Given the description of an element on the screen output the (x, y) to click on. 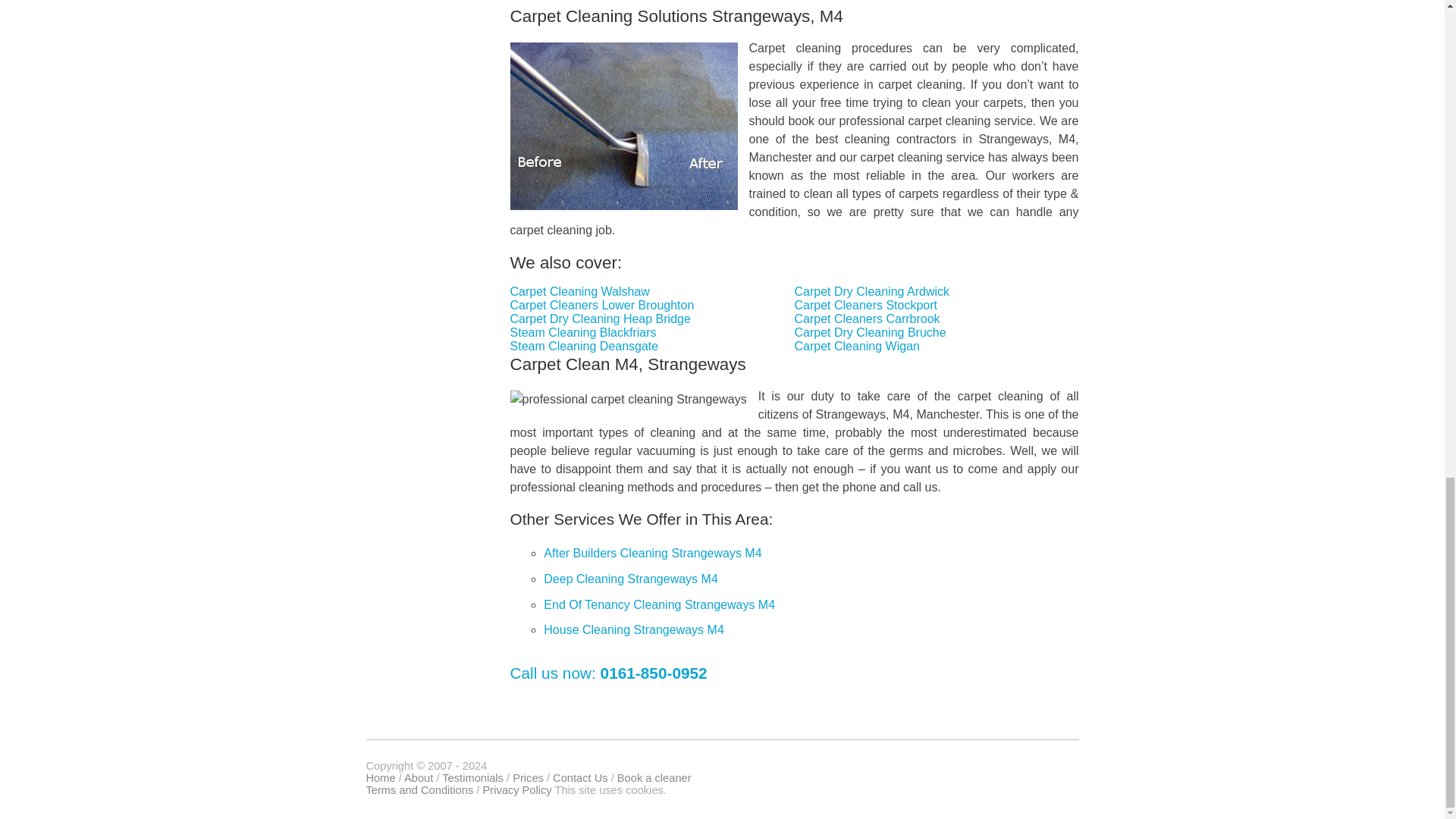
M7 Carpet Cleaners Lower Broughton (602, 305)
End Of Tenancy Cleaning Strangeways M4 (658, 604)
Carpet Cleaners Carrbrook (867, 318)
BL8 Carpet Cleaning Walshaw (580, 291)
Carpet Dry Cleaning Bruche (870, 332)
Deep Cleaning Strangeways M4 (630, 578)
M12 Carpet Dry Cleaning Ardwick (872, 291)
After Builders Cleaning Strangeways M4 (652, 553)
Carpet Dry Cleaning Heap Bridge (600, 318)
Carpet Cleaning Wigan (857, 345)
BL9 Carpet Dry Cleaning Heap Bridge (600, 318)
Home (379, 777)
M2 Steam Cleaning Deansgate (585, 345)
Carpet Cleaning Walshaw (580, 291)
About (418, 777)
